Given the description of an element on the screen output the (x, y) to click on. 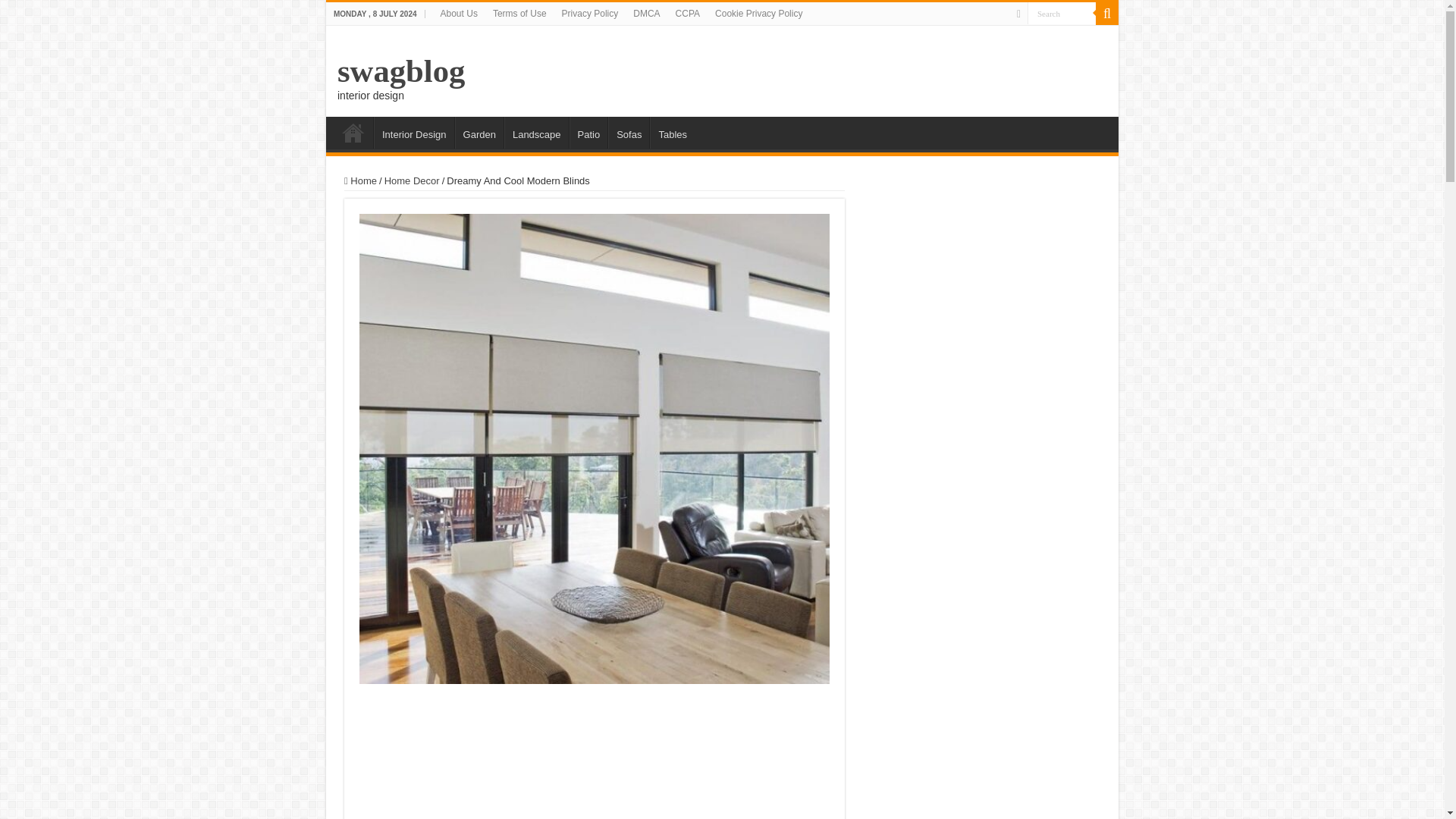
DMCA (646, 13)
Sofas (628, 132)
Search (1061, 13)
Home Decor (411, 180)
Terms of Use (519, 13)
CCPA (687, 13)
Home (360, 180)
Search (1107, 13)
Garden (478, 132)
Patio (588, 132)
Cookie Privacy Policy (758, 13)
Interior Design (414, 132)
About Us (458, 13)
Privacy Policy (590, 13)
